Given the description of an element on the screen output the (x, y) to click on. 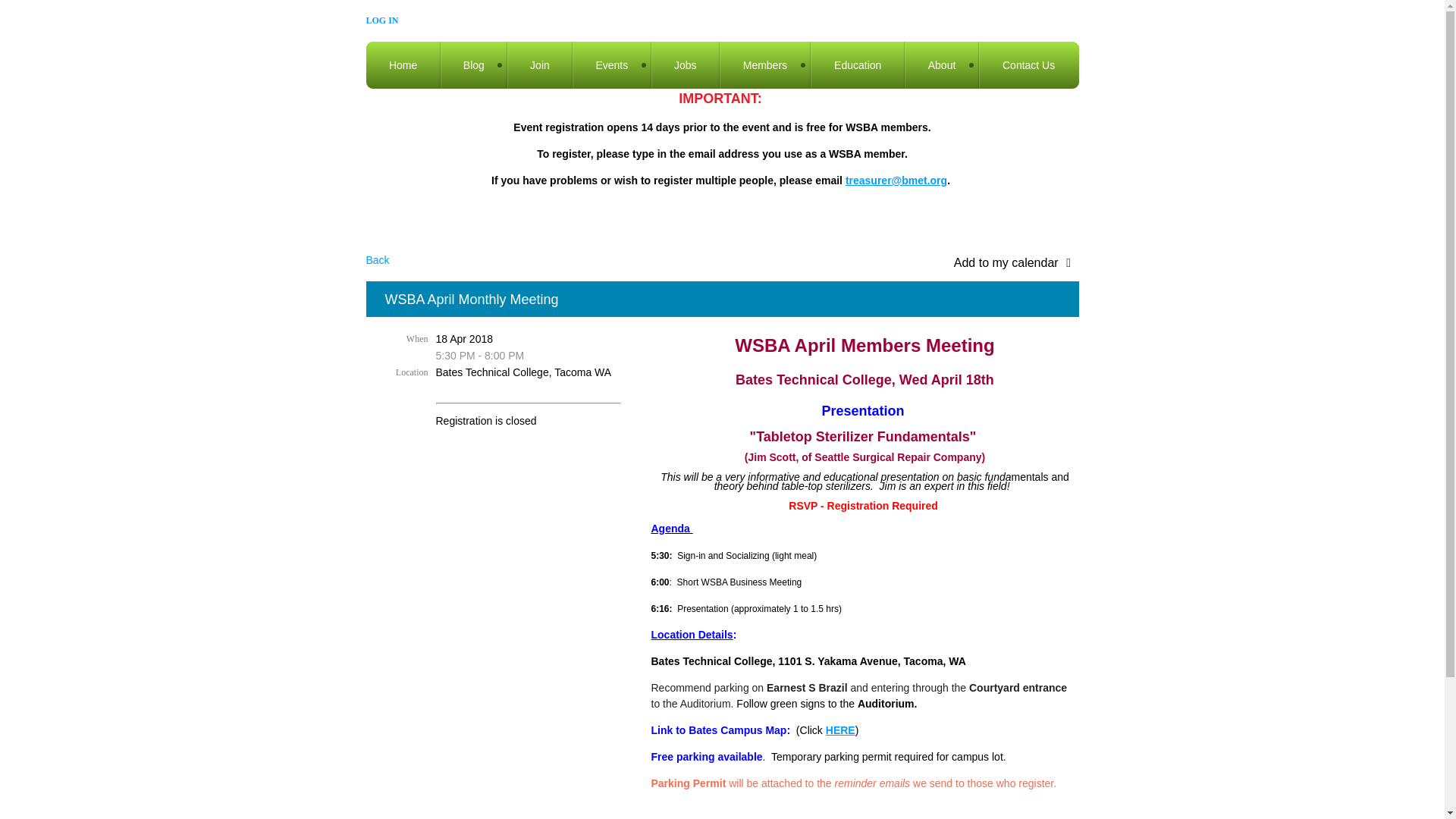
Contact Us (1028, 64)
Education (857, 64)
HERE (840, 729)
Events (611, 64)
Back (376, 259)
Events (611, 64)
Join (539, 64)
Join (539, 64)
Home (402, 64)
Blog (473, 64)
About (941, 64)
Contact Us (1028, 64)
Blog (473, 64)
LOG IN (381, 20)
Education (857, 64)
